Given the description of an element on the screen output the (x, y) to click on. 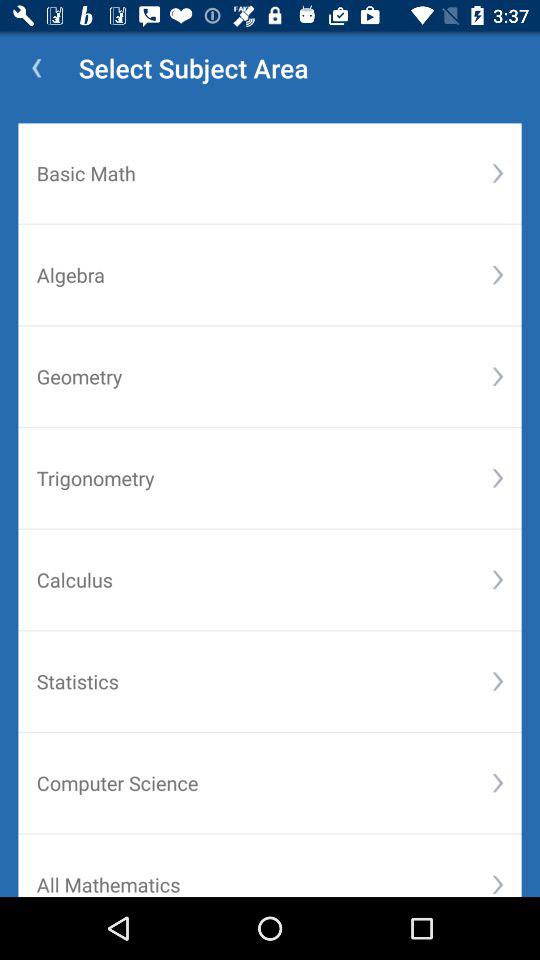
choose the item below the geometry (497, 478)
